Given the description of an element on the screen output the (x, y) to click on. 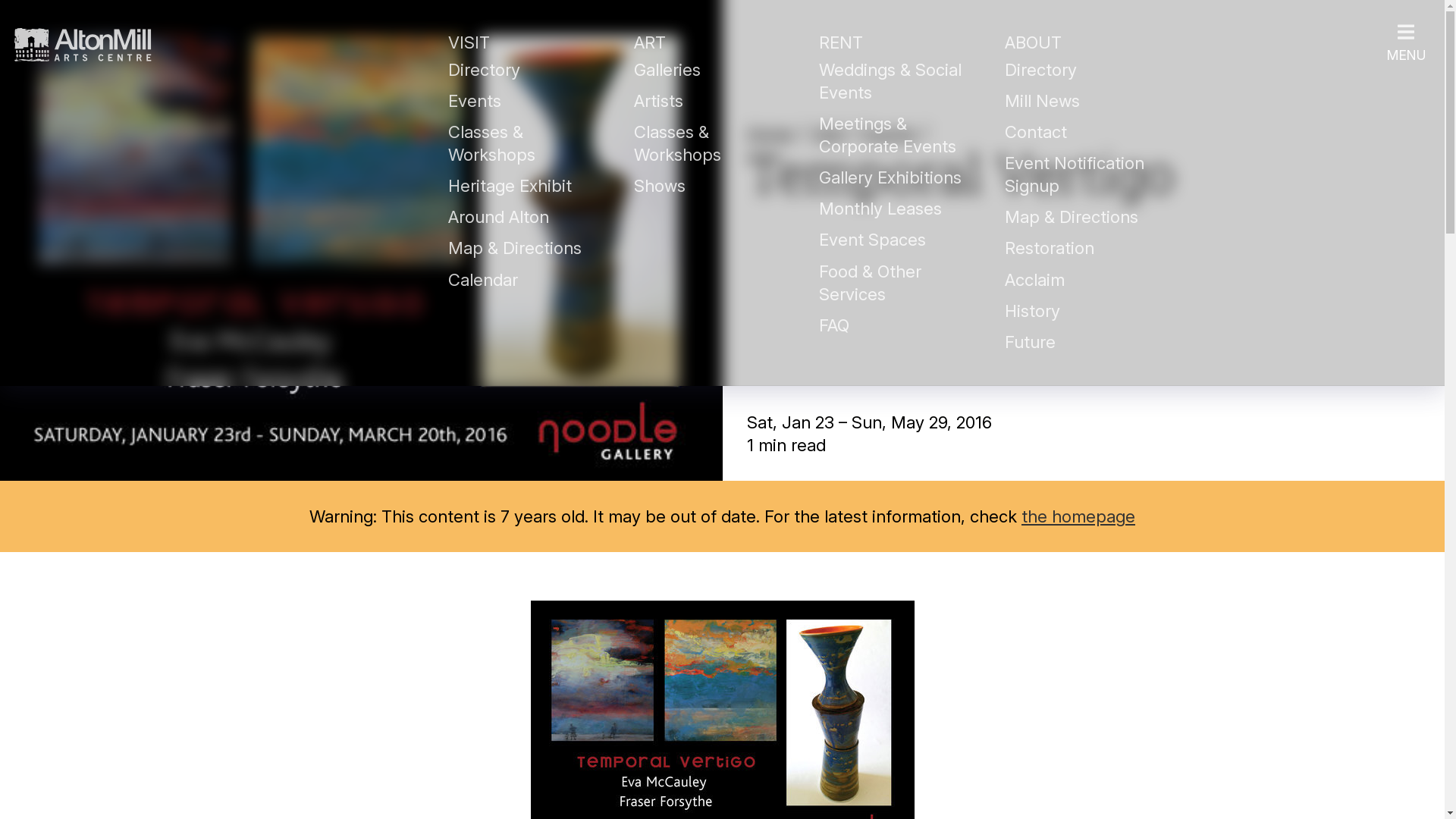
Directory Element type: text (1040, 69)
Mill News Element type: text (1041, 100)
Classes & Workshops Element type: text (491, 143)
Event Notification Signup Element type: text (1076, 174)
Calendar Element type: text (482, 279)
Home Element type: text (769, 132)
Gallery Exhibitions Element type: text (890, 177)
Map & Directions Element type: text (1071, 216)
MENU Element type: text (1406, 192)
Weddings & Social Events Element type: text (892, 80)
Galleries Element type: text (666, 69)
VISIT Element type: text (526, 42)
Event Spaces Element type: text (872, 239)
History Element type: text (1032, 310)
Events Element type: text (889, 132)
Artists Element type: text (658, 100)
Acclaim Element type: text (1034, 279)
Events Element type: text (474, 100)
Around Alton Element type: text (498, 216)
Heritage Exhibit Element type: text (509, 185)
Visit Element type: text (827, 132)
Classes & Workshops Element type: text (677, 143)
Contact Element type: text (1035, 131)
the homepage Element type: text (1078, 516)
ART Element type: text (711, 42)
Meetings & Corporate Events Element type: text (887, 134)
Monthly Leases Element type: text (880, 208)
RENT Element type: text (897, 42)
Restoration Element type: text (1049, 247)
Food & Other Services Element type: text (872, 282)
Future Element type: text (1029, 341)
ABOUT Element type: text (1082, 42)
FAQ Element type: text (834, 325)
Directory Element type: text (484, 69)
Map & Directions Element type: text (514, 247)
Shows Element type: text (659, 185)
